Given the description of an element on the screen output the (x, y) to click on. 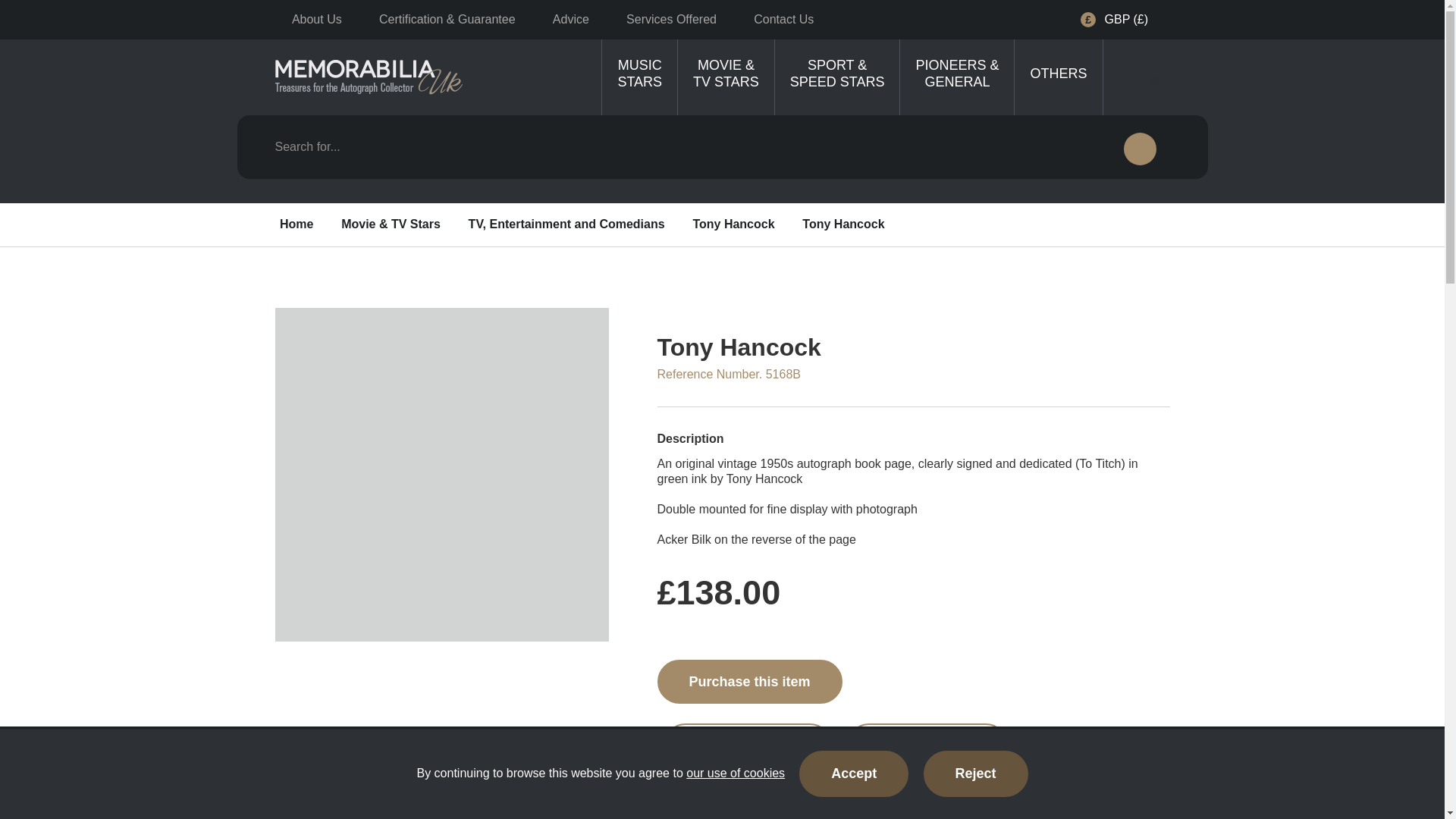
Advice (570, 18)
Services Offered (671, 18)
About Us (316, 18)
Contact Us (783, 18)
